Given the description of an element on the screen output the (x, y) to click on. 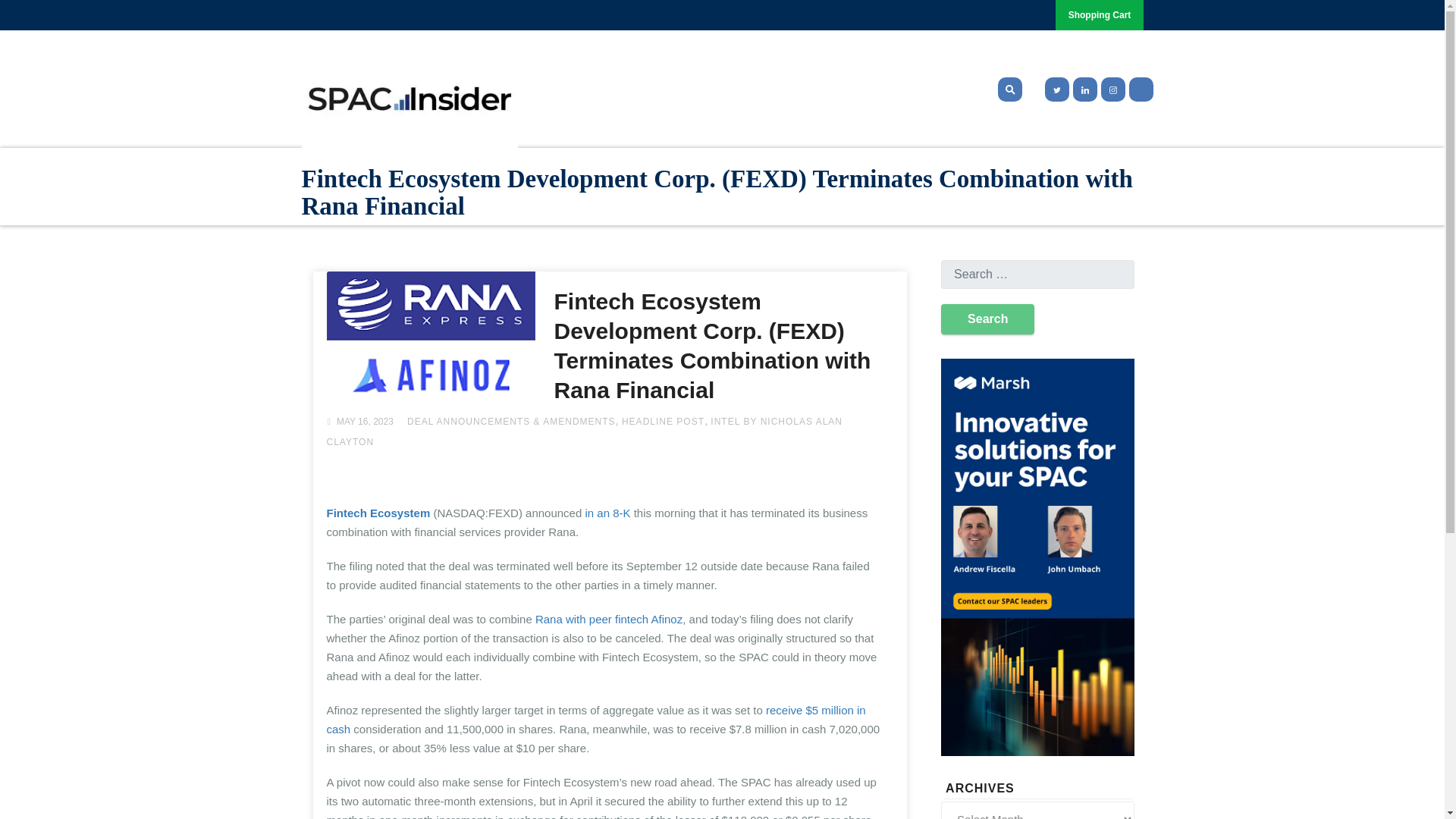
Rana with peer fintech Afinoz (608, 618)
Fintech Ecosystem (377, 512)
LinkedIn (1083, 88)
BY NICHOLAS ALAN CLAYTON (584, 431)
Twitter (1054, 88)
Shopping Cart (1098, 15)
in an 8-K (607, 512)
HEADLINE POST (662, 421)
Apple Podcasts (1140, 88)
Search (986, 318)
